Given the description of an element on the screen output the (x, y) to click on. 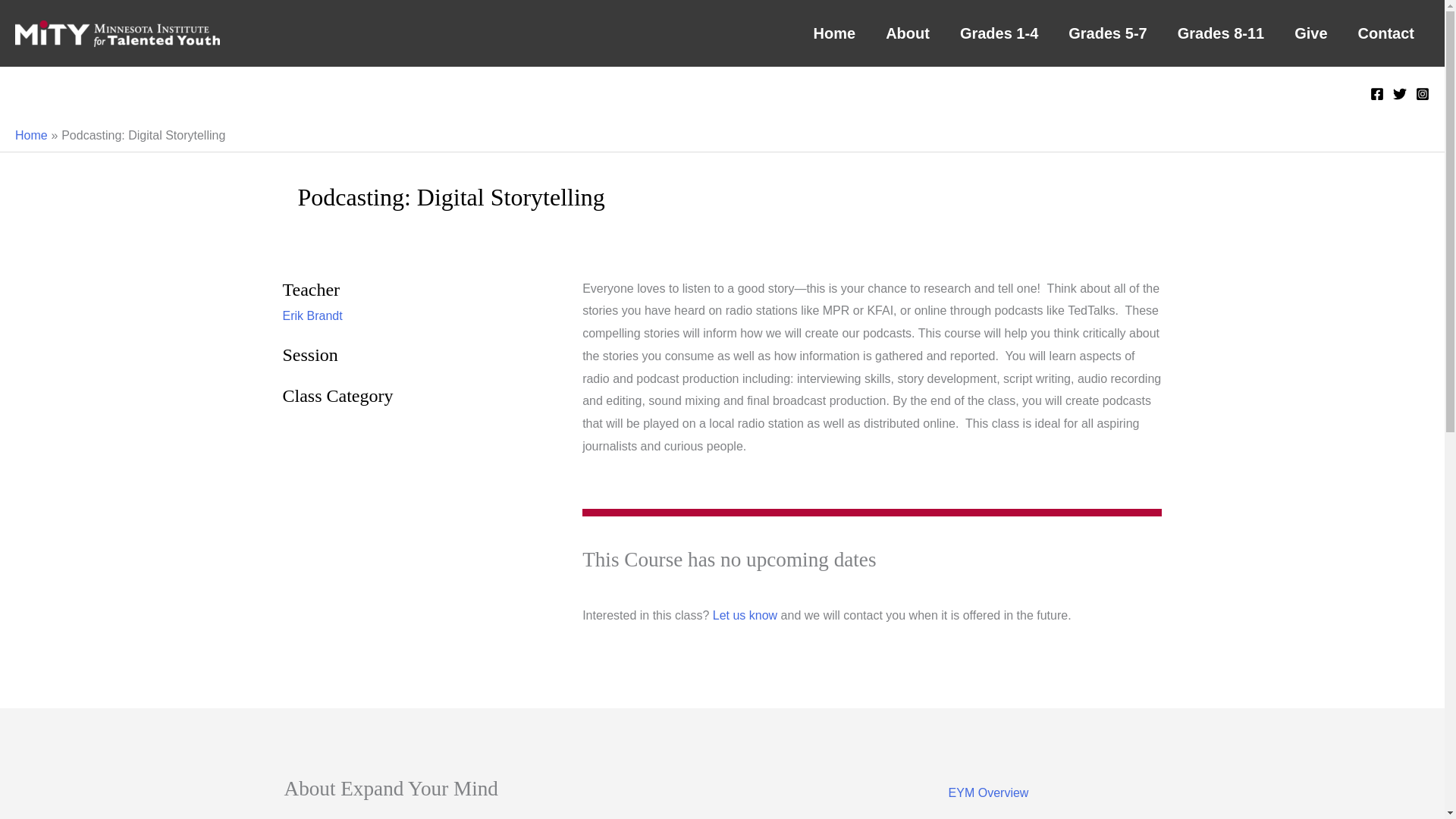
Erik Brandt (312, 315)
Grades 5-7 (1106, 33)
Erik Brandt (312, 315)
Home (31, 134)
EYM Class List (1044, 814)
Let us know (745, 615)
Grades 8-11 (1220, 33)
About (907, 33)
Contact (1385, 33)
Home (833, 33)
